Given the description of an element on the screen output the (x, y) to click on. 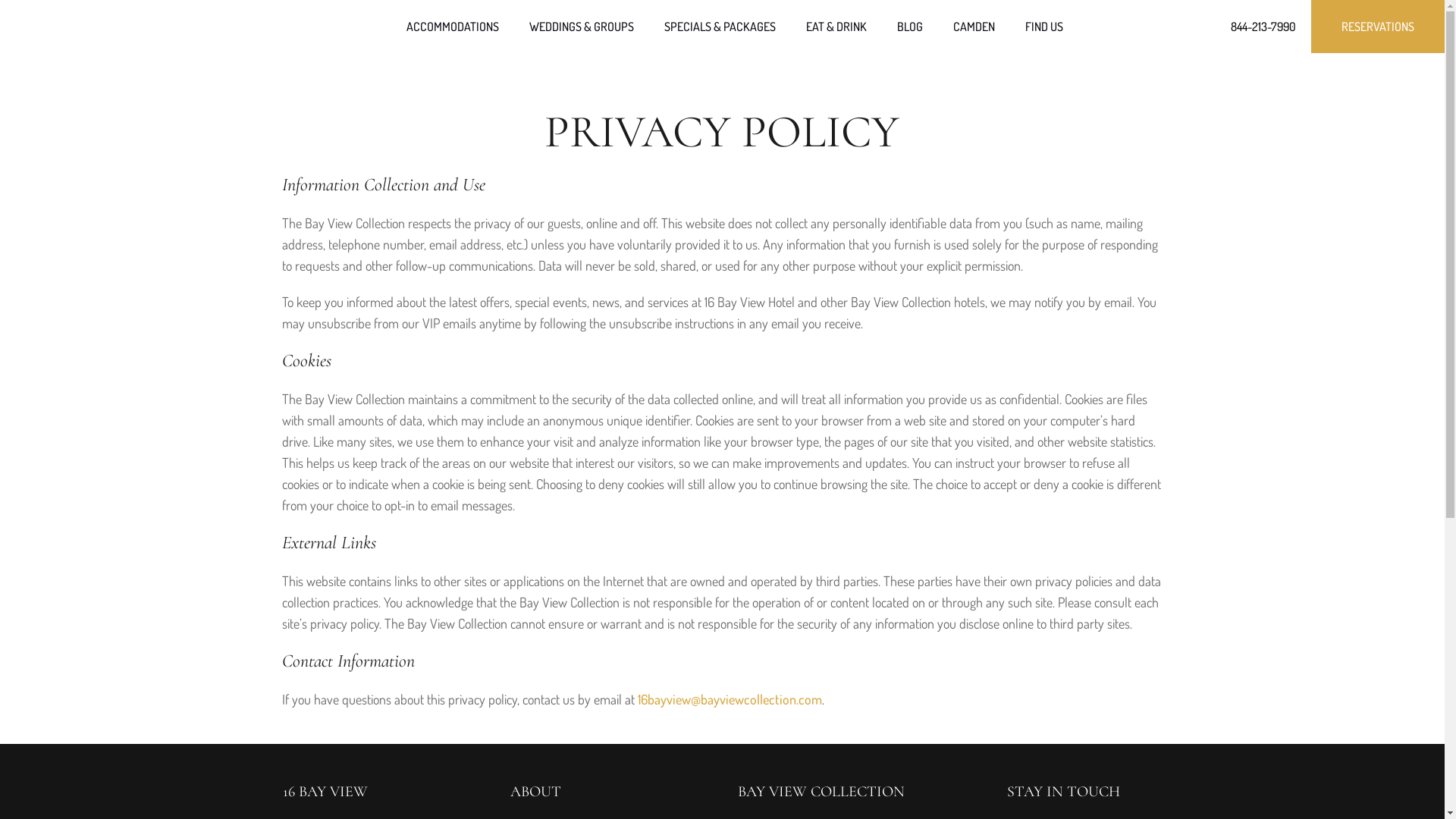
844-213-7990 Element type: text (1262, 26)
FIND US Element type: text (1044, 26)
SPECIALS & PACKAGES Element type: text (719, 26)
ACCOMMODATIONS Element type: text (452, 26)
CAMDEN Element type: text (973, 26)
16bayview@bayviewcollection.com Element type: text (729, 698)
RESERVATIONS Element type: text (1377, 26)
BLOG Element type: text (909, 26)
WEDDINGS & GROUPS Element type: text (581, 26)
EAT & DRINK Element type: text (835, 26)
